Given the description of an element on the screen output the (x, y) to click on. 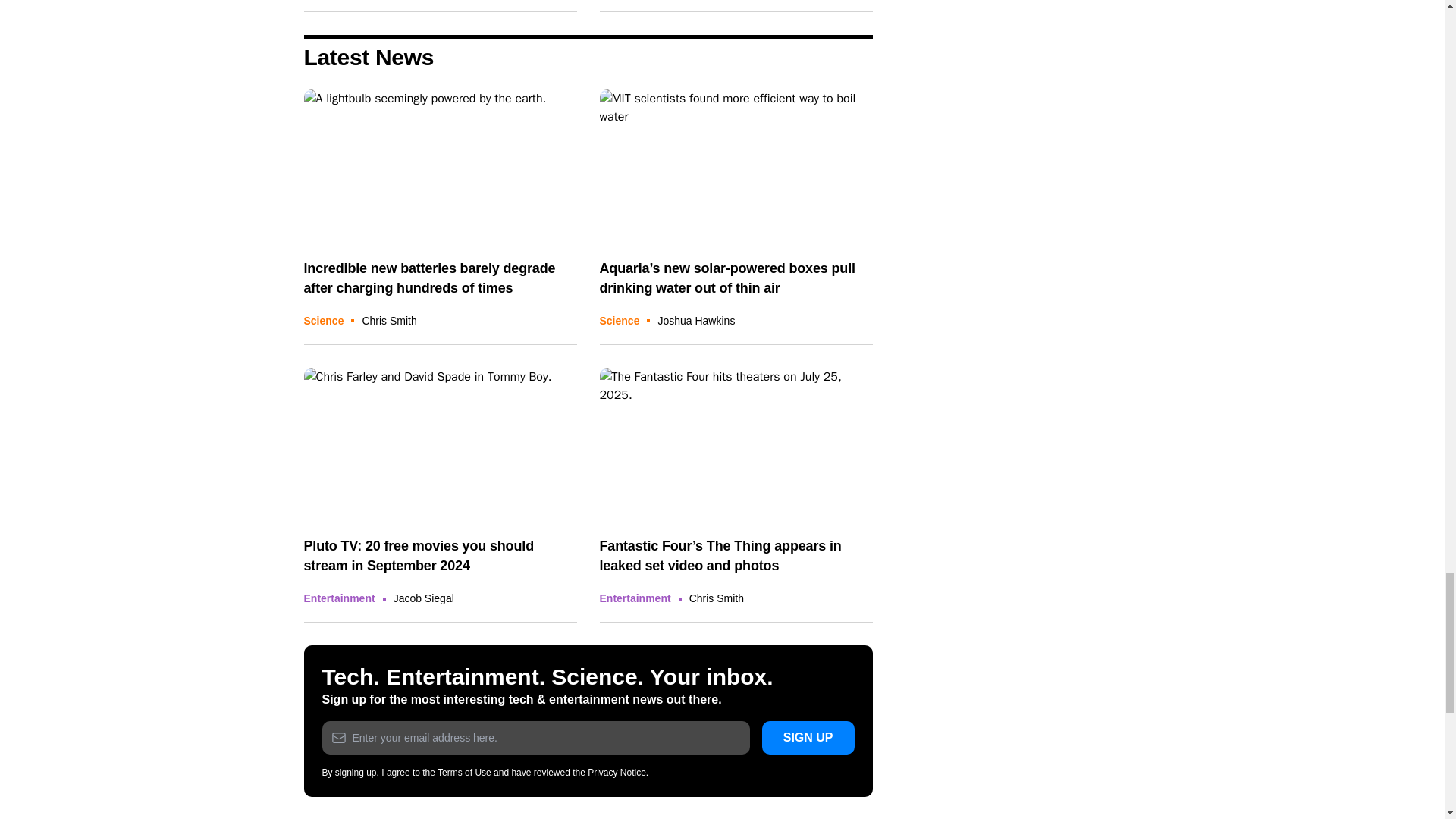
Posts by Jacob Siegal (423, 598)
Pluto TV (439, 444)
Fantastic Four (735, 444)
Battery Tech (439, 166)
Posts by Chris Smith (388, 320)
pull clean drinking water out of the air (735, 166)
Posts by Chris Smith (716, 598)
Posts by Joshua Hawkins (696, 320)
